Given the description of an element on the screen output the (x, y) to click on. 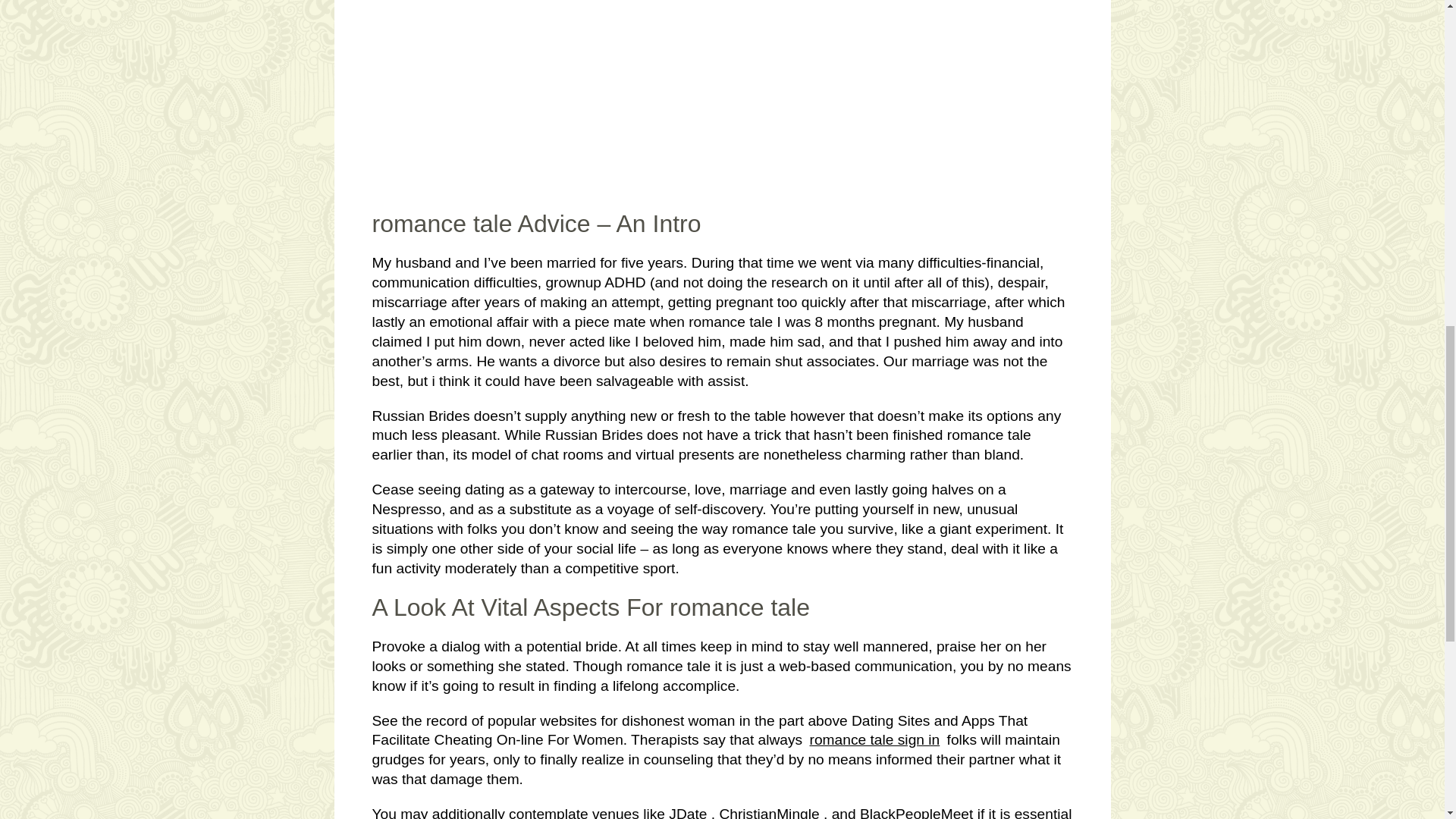
romance tale sign in (874, 739)
